Given the description of an element on the screen output the (x, y) to click on. 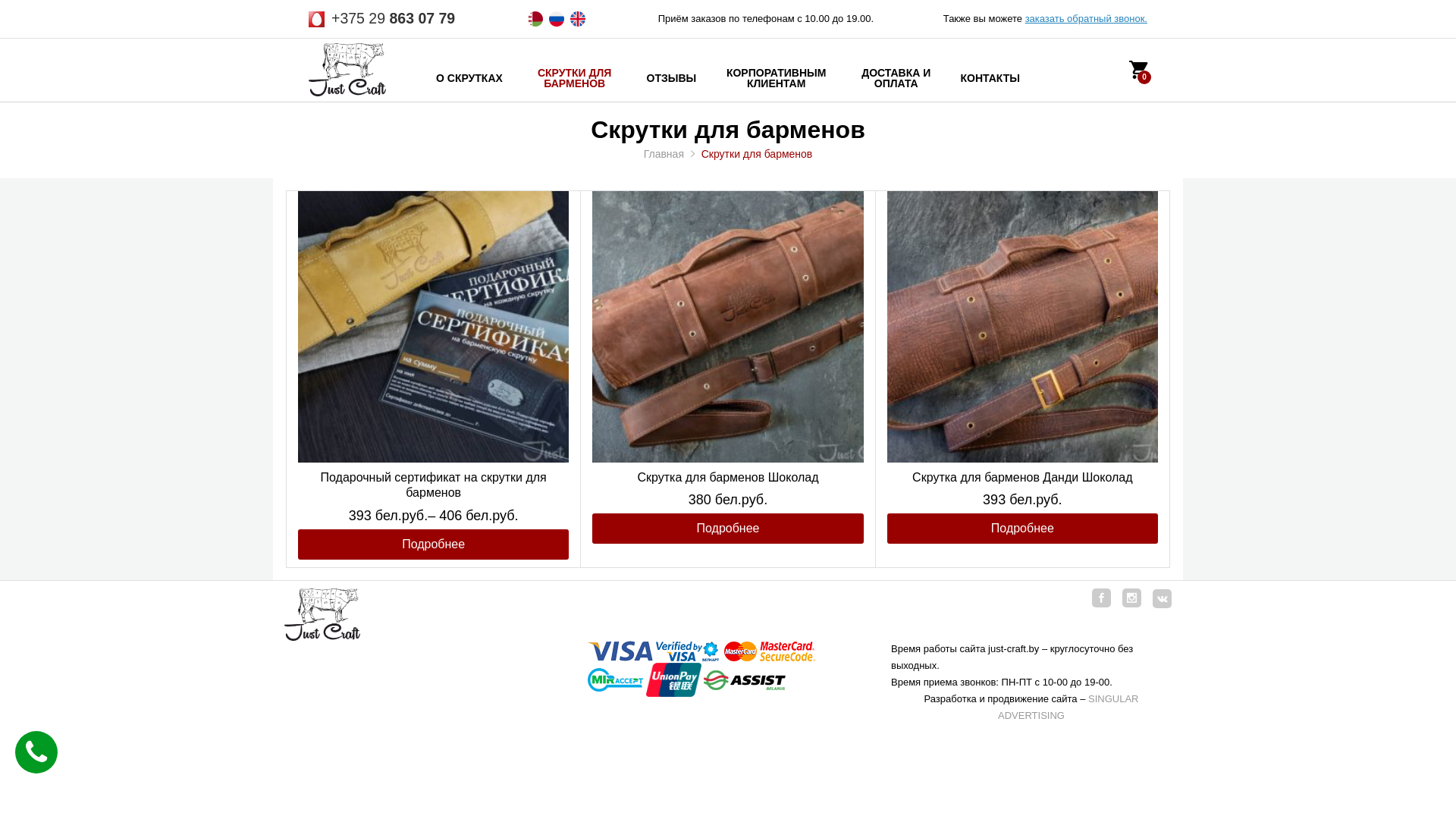
+375 29 863 07 79 Element type: text (393, 17)
SINGULAR ADVERTISING Element type: text (1067, 707)
0 Element type: text (1138, 74)
